Given the description of an element on the screen output the (x, y) to click on. 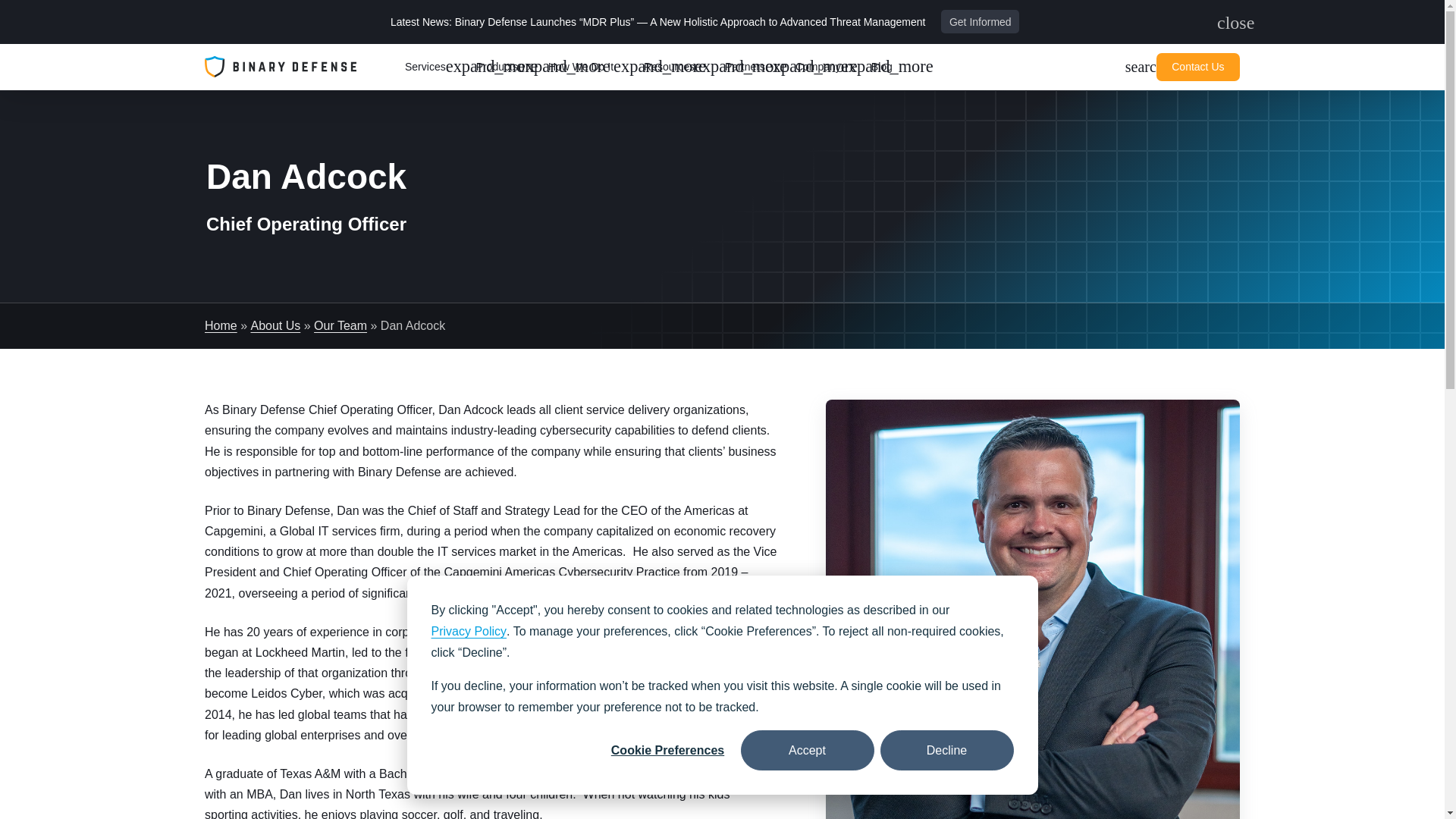
Products (505, 66)
Get Informed (979, 21)
Resources (678, 66)
Services (1225, 22)
How We Do It (434, 66)
